Given the description of an element on the screen output the (x, y) to click on. 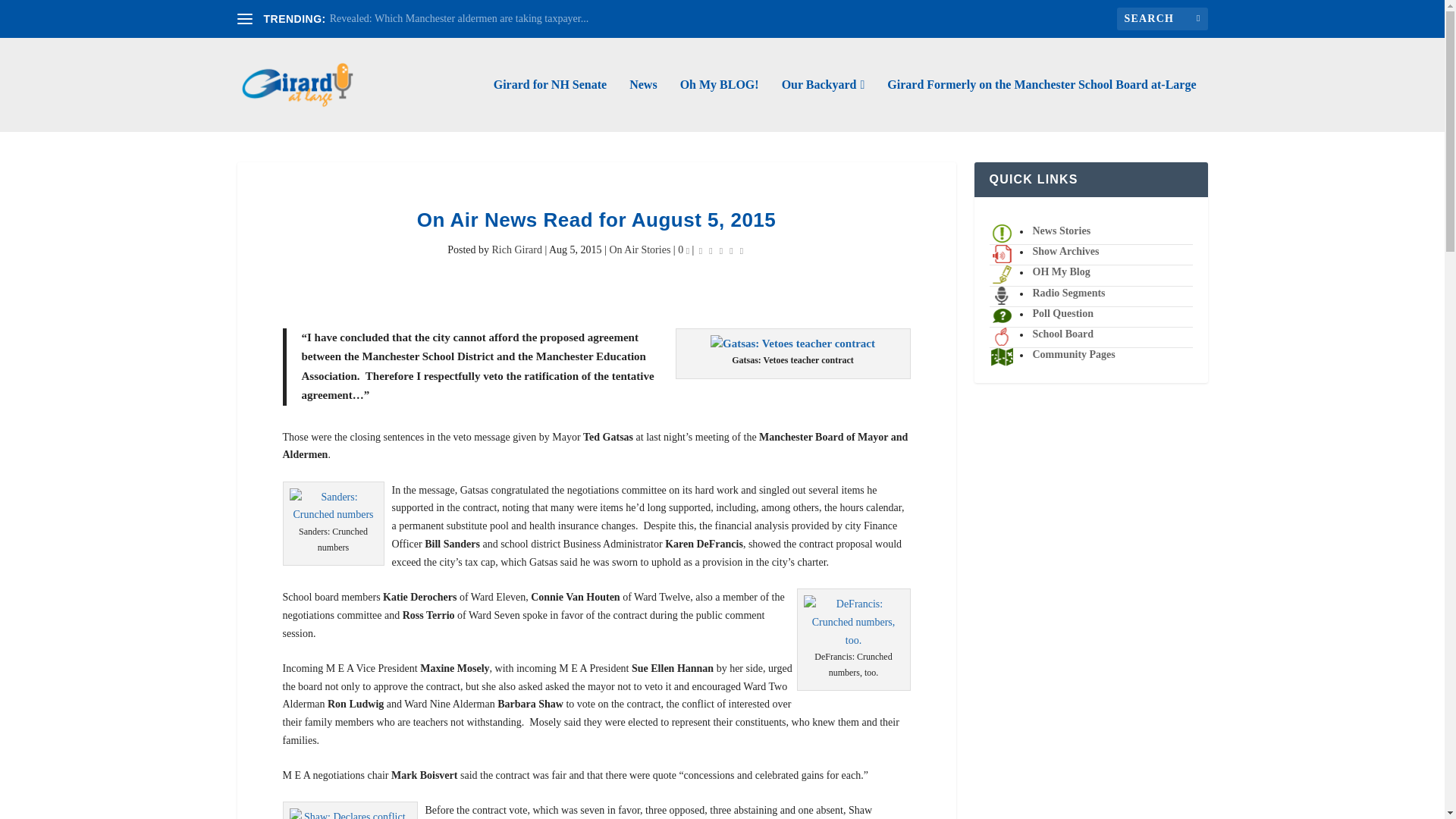
Search for: (1161, 18)
Rating: 0.00 (721, 250)
Oh My BLOG! (718, 104)
Posts by Rich Girard (516, 249)
Girard for NH Senate (550, 104)
Revealed: Which Manchester aldermen are taking taxpayer... (459, 18)
Our Backyard (822, 104)
